Given the description of an element on the screen output the (x, y) to click on. 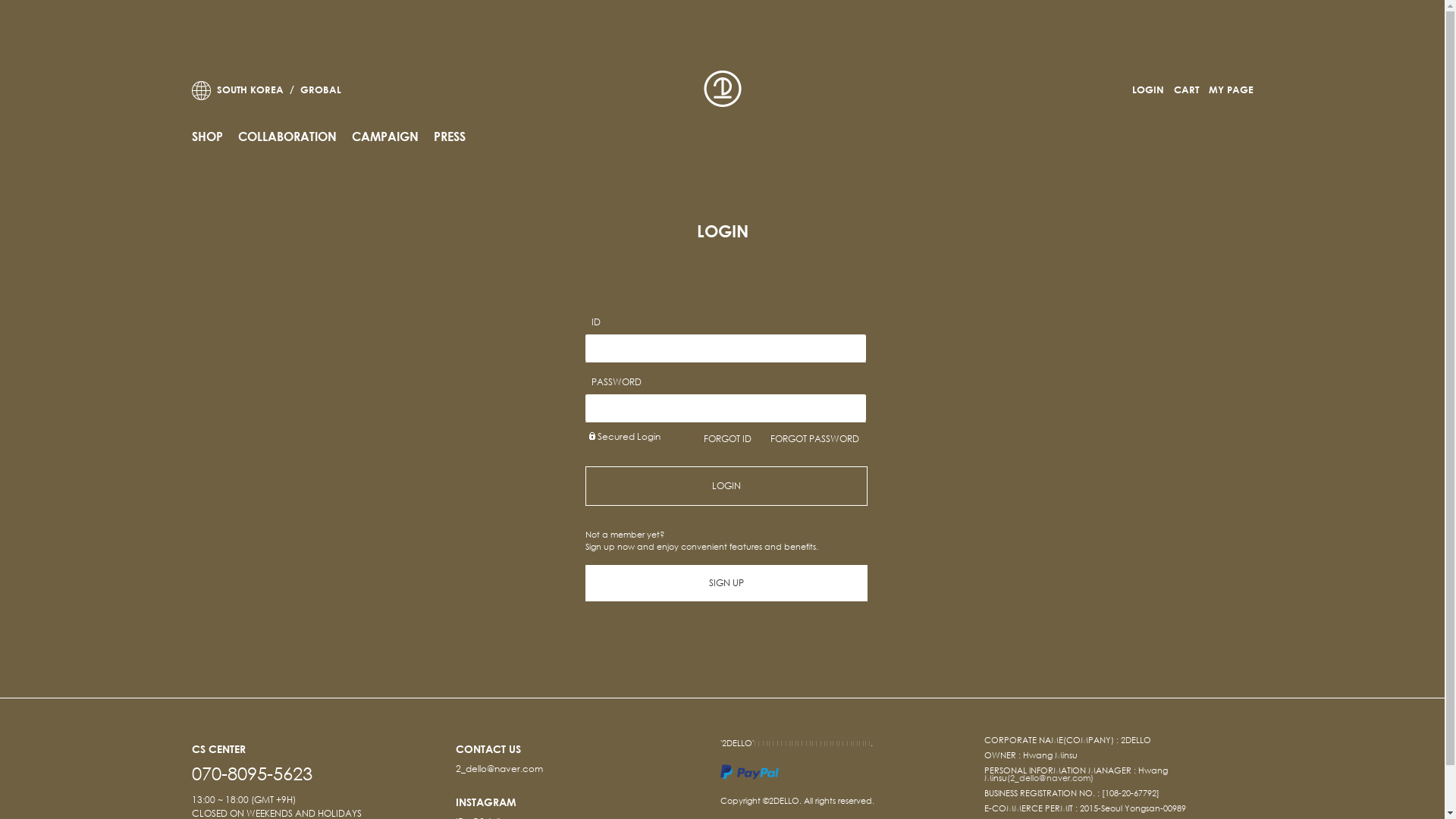
  GROBAL Element type: text (345, 89)
COLLABORATION Element type: text (287, 136)
CAMPAIGN Element type: text (384, 136)
FORGOT PASSWORD Element type: text (814, 438)
SIGN UP Element type: text (726, 582)
FORGOT ID Element type: text (727, 438)
SHOP Element type: text (206, 136)
LOGIN Element type: text (1143, 89)
MY PAGE Element type: text (1227, 89)
PRESS Element type: text (449, 136)
CART Element type: text (1182, 89)
LOGIN Element type: text (726, 485)
(2_dello@naver.com) Element type: text (1050, 777)
  SOUTH KOREA  / Element type: text (242, 89)
